Given the description of an element on the screen output the (x, y) to click on. 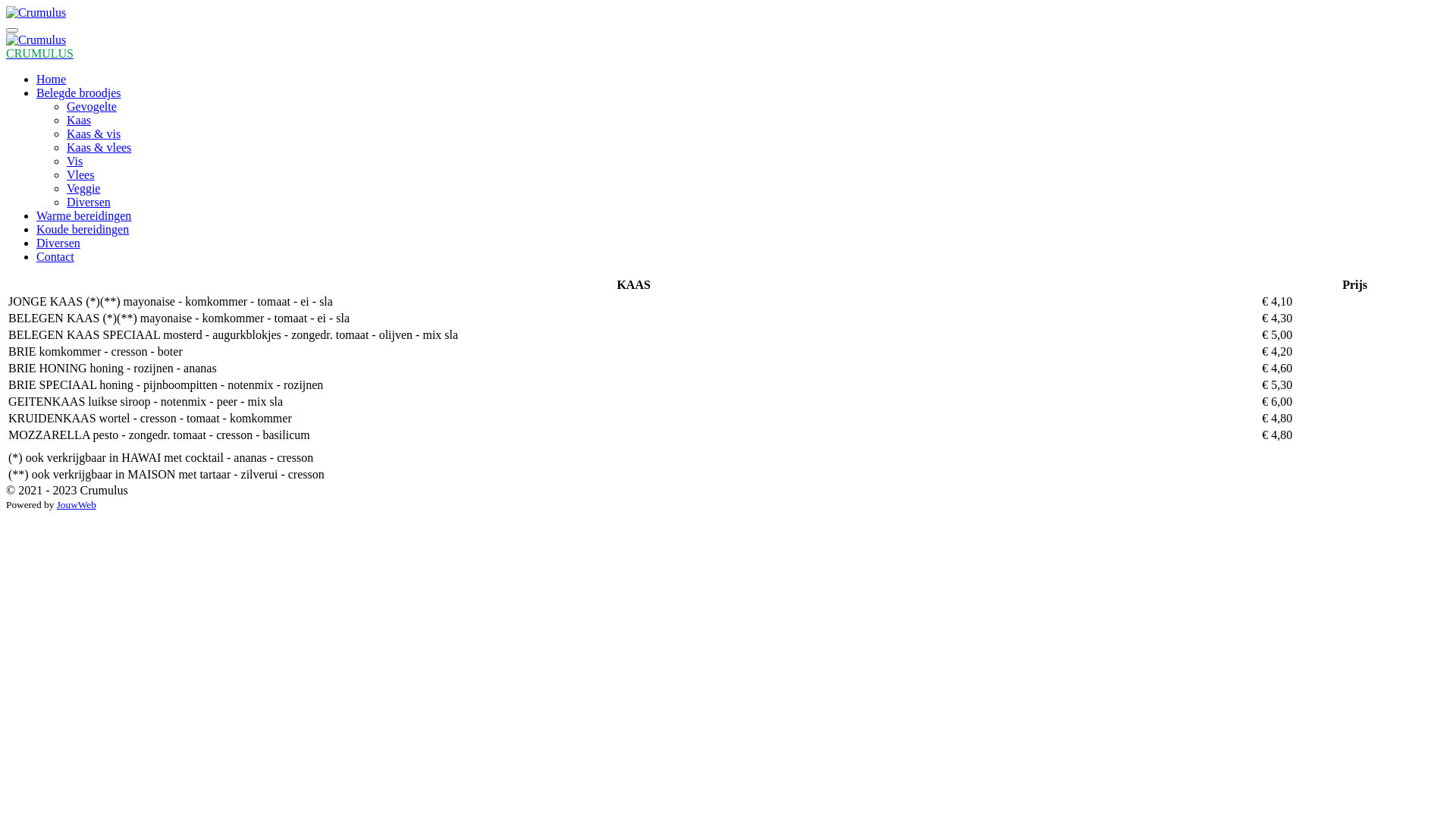
Gevogelte Element type: text (91, 106)
Vis Element type: text (74, 160)
Kaas & vlees Element type: text (98, 147)
Home Element type: text (50, 78)
Belegde broodjes Element type: text (78, 92)
Crumulus Element type: hover (35, 40)
Warme bereidingen Element type: text (83, 215)
CRUMULUS Element type: text (39, 53)
JouwWeb Element type: text (76, 504)
Veggie Element type: text (83, 188)
Kaas & vis Element type: text (93, 133)
Kaas Element type: text (78, 119)
Crumulus Element type: hover (35, 12)
Contact Element type: text (55, 256)
Diversen Element type: text (58, 242)
Koude bereidingen Element type: text (82, 228)
Vlees Element type: text (80, 174)
Diversen Element type: text (88, 201)
